Given the description of an element on the screen output the (x, y) to click on. 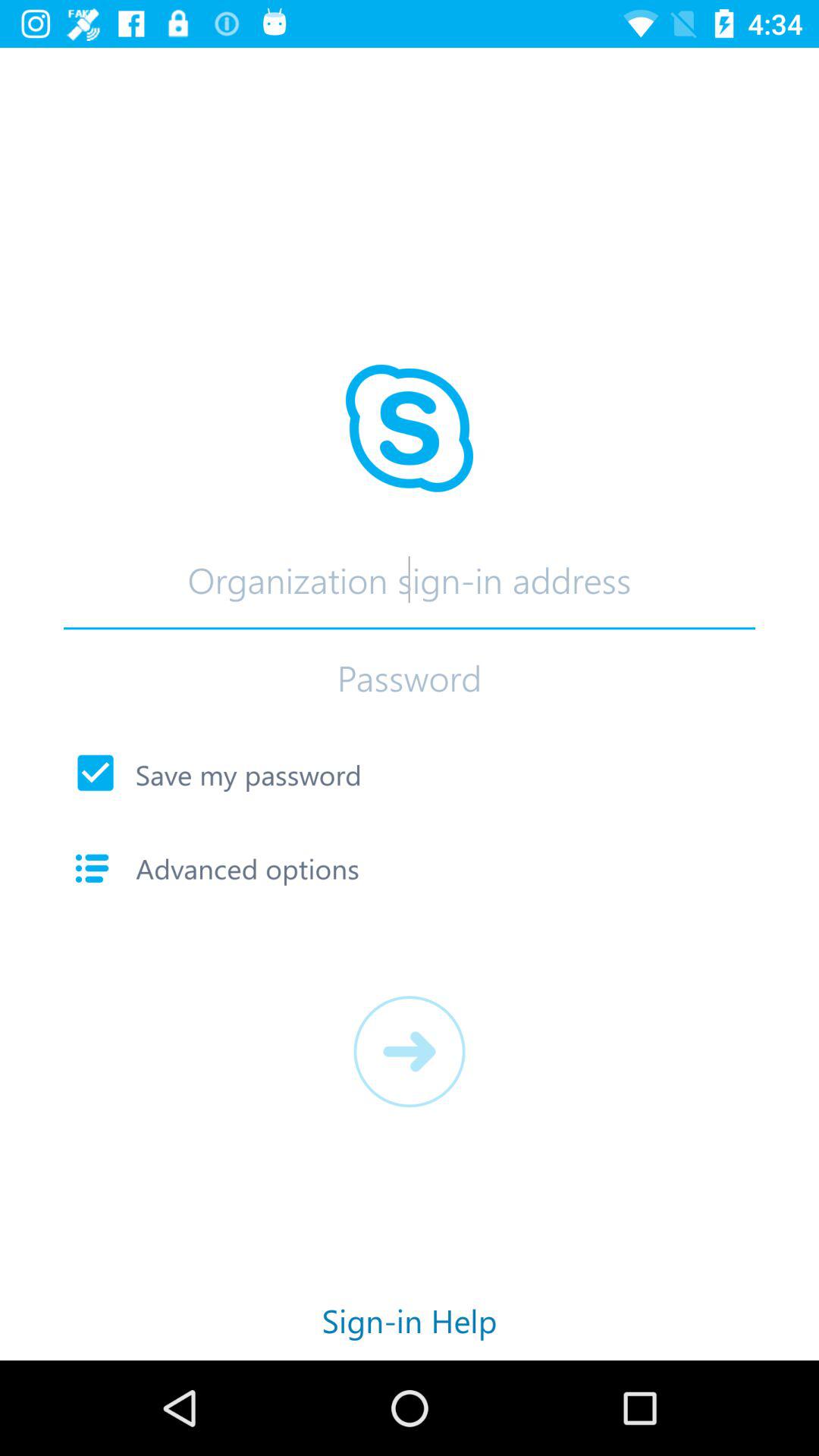
turn on item above sign-in help app (409, 1051)
